Given the description of an element on the screen output the (x, y) to click on. 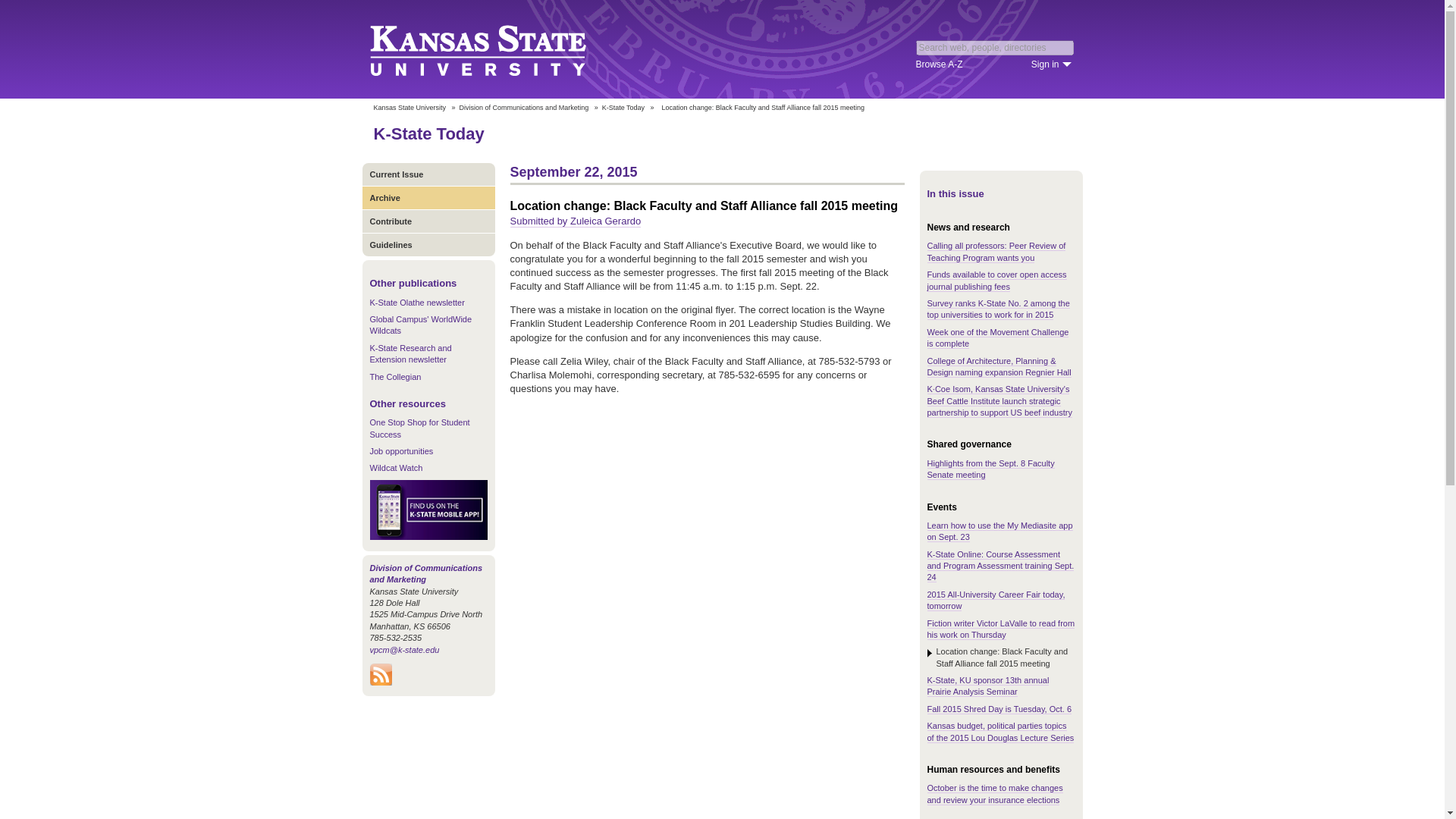
Current Issue (428, 173)
Archive (428, 197)
Contribute (428, 220)
One Stop Shop for Student Success (419, 427)
Division of Communications and Marketing (426, 573)
Global Campus' WorldWide Wildcats (420, 324)
